Given the description of an element on the screen output the (x, y) to click on. 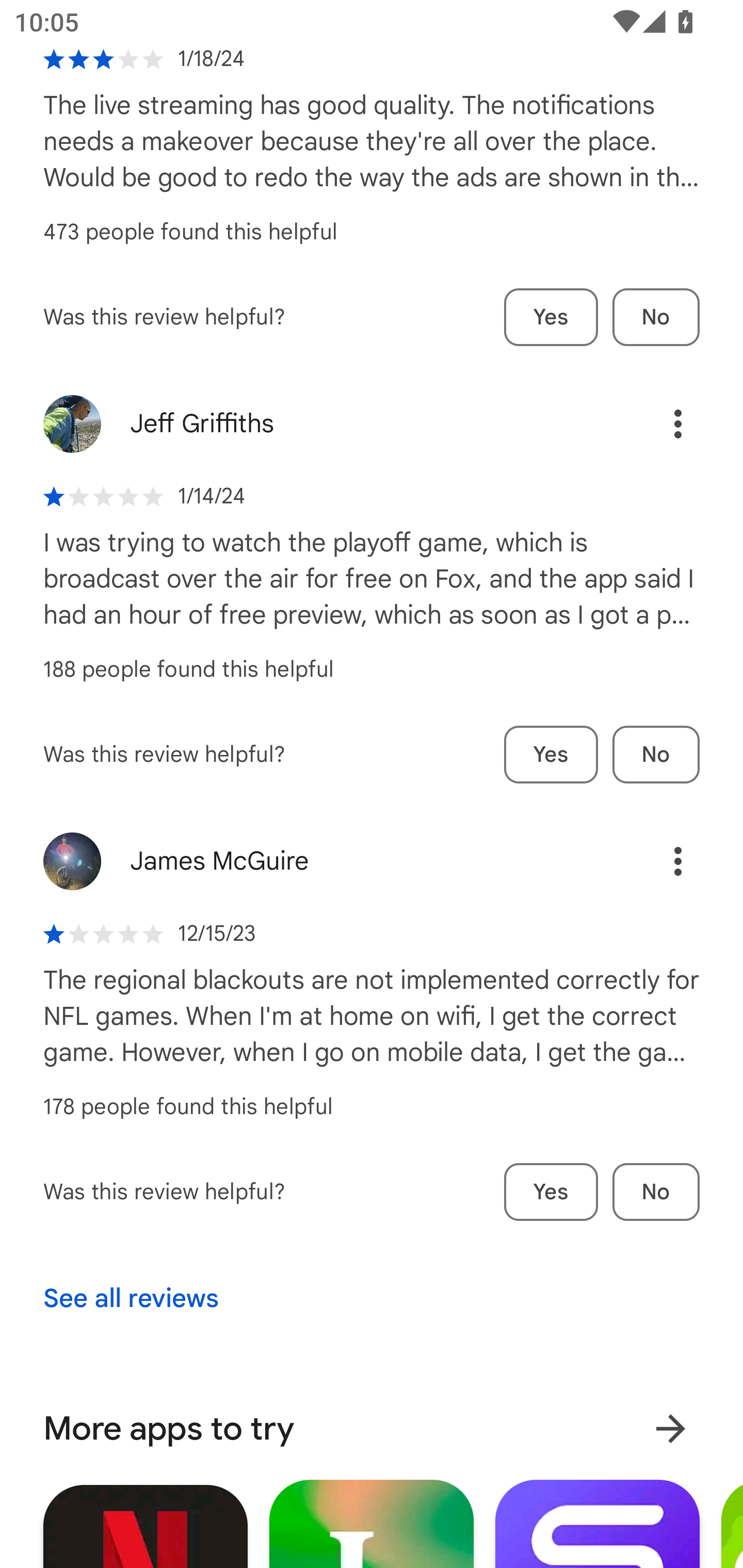
Yes (550, 317)
No (655, 317)
Options (655, 424)
Yes (550, 754)
No (655, 754)
Options (655, 861)
Yes (550, 1192)
No (655, 1192)
See all reviews (130, 1298)
More apps to try More results for More apps to try (371, 1428)
More results for More apps to try (670, 1429)
